Given the description of an element on the screen output the (x, y) to click on. 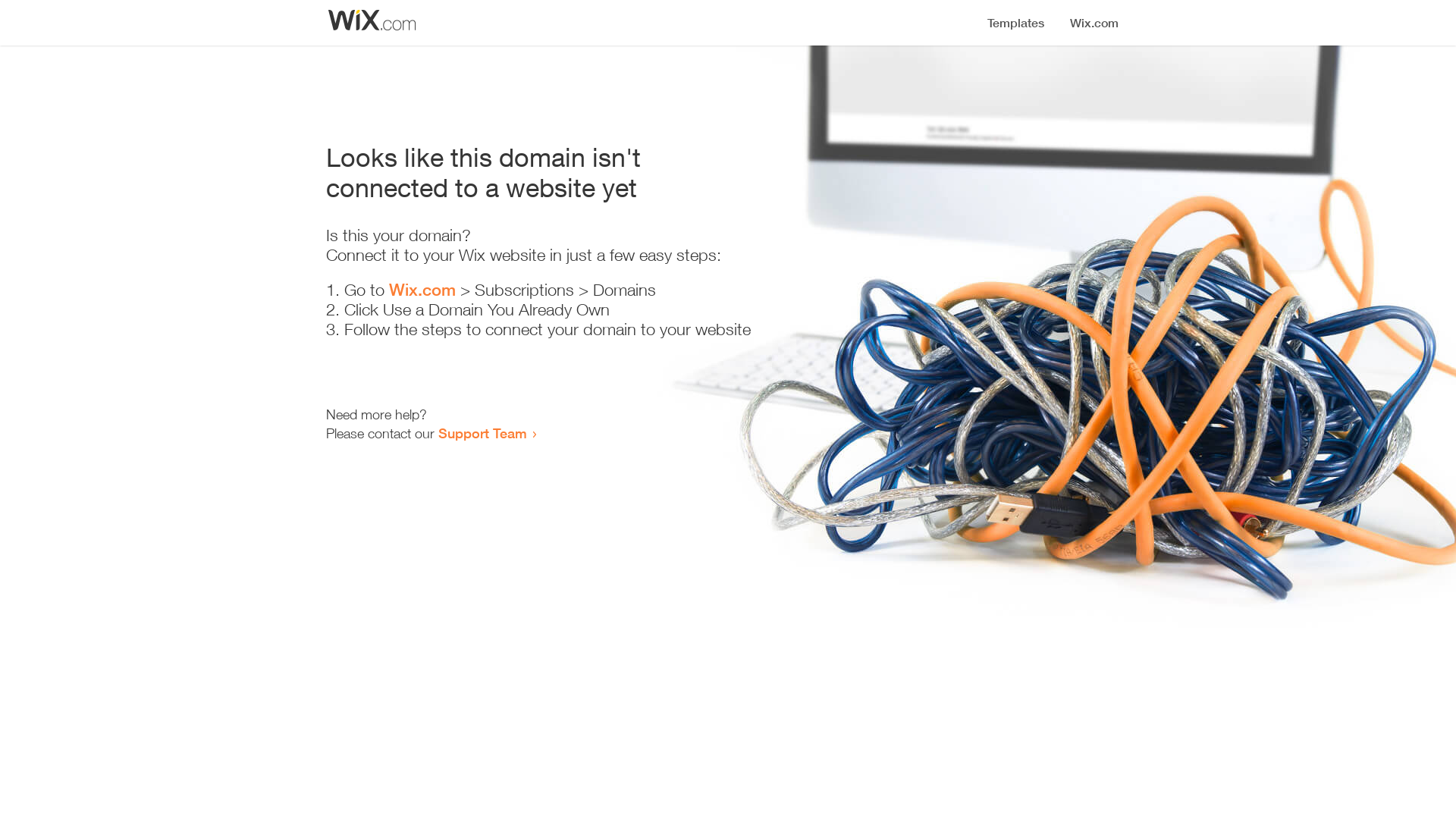
Wix.com Element type: text (422, 289)
Support Team Element type: text (482, 432)
